Given the description of an element on the screen output the (x, y) to click on. 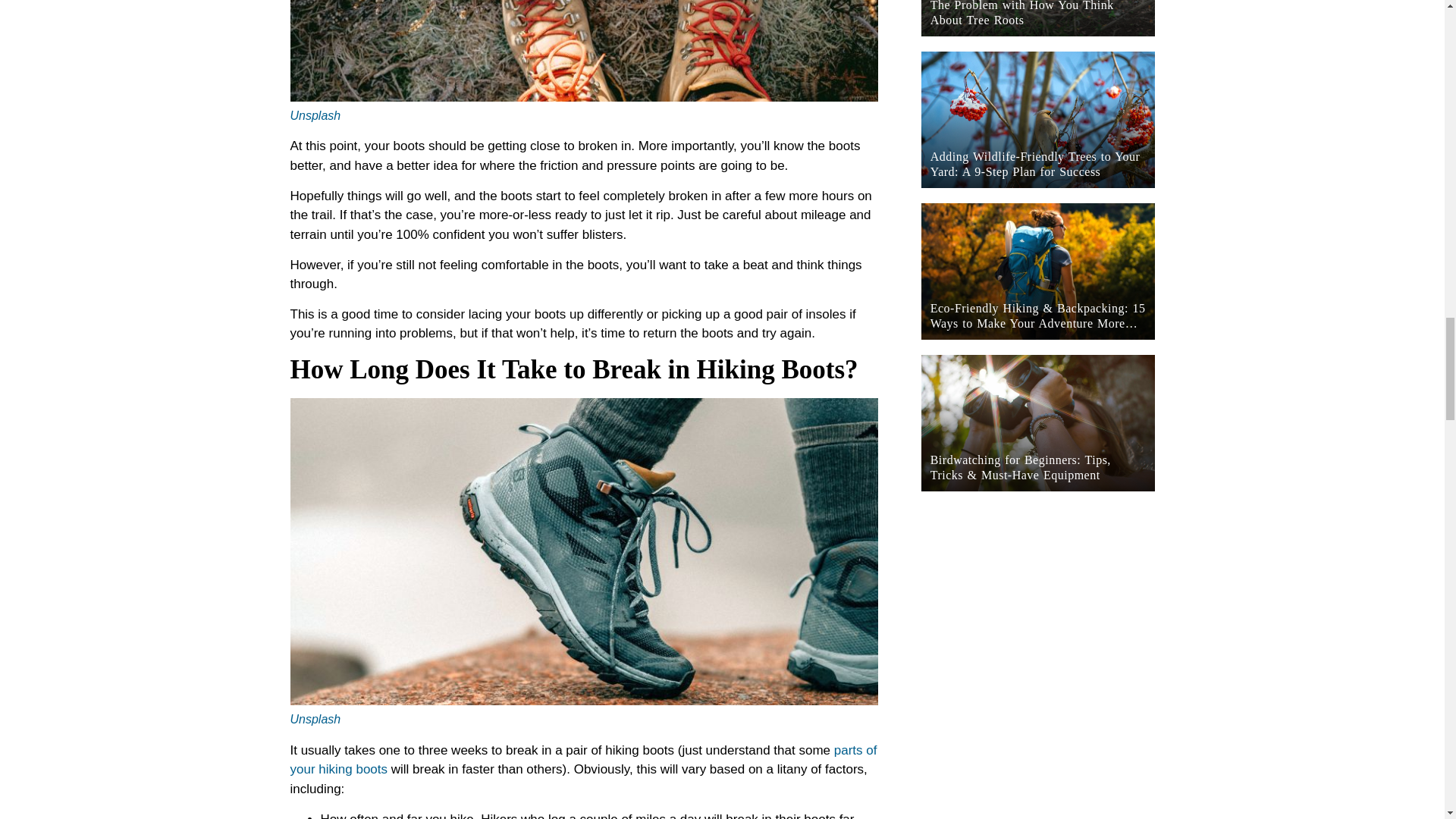
Unsplash (314, 718)
Unsplash (314, 115)
parts of your hiking boots (582, 759)
